Given the description of an element on the screen output the (x, y) to click on. 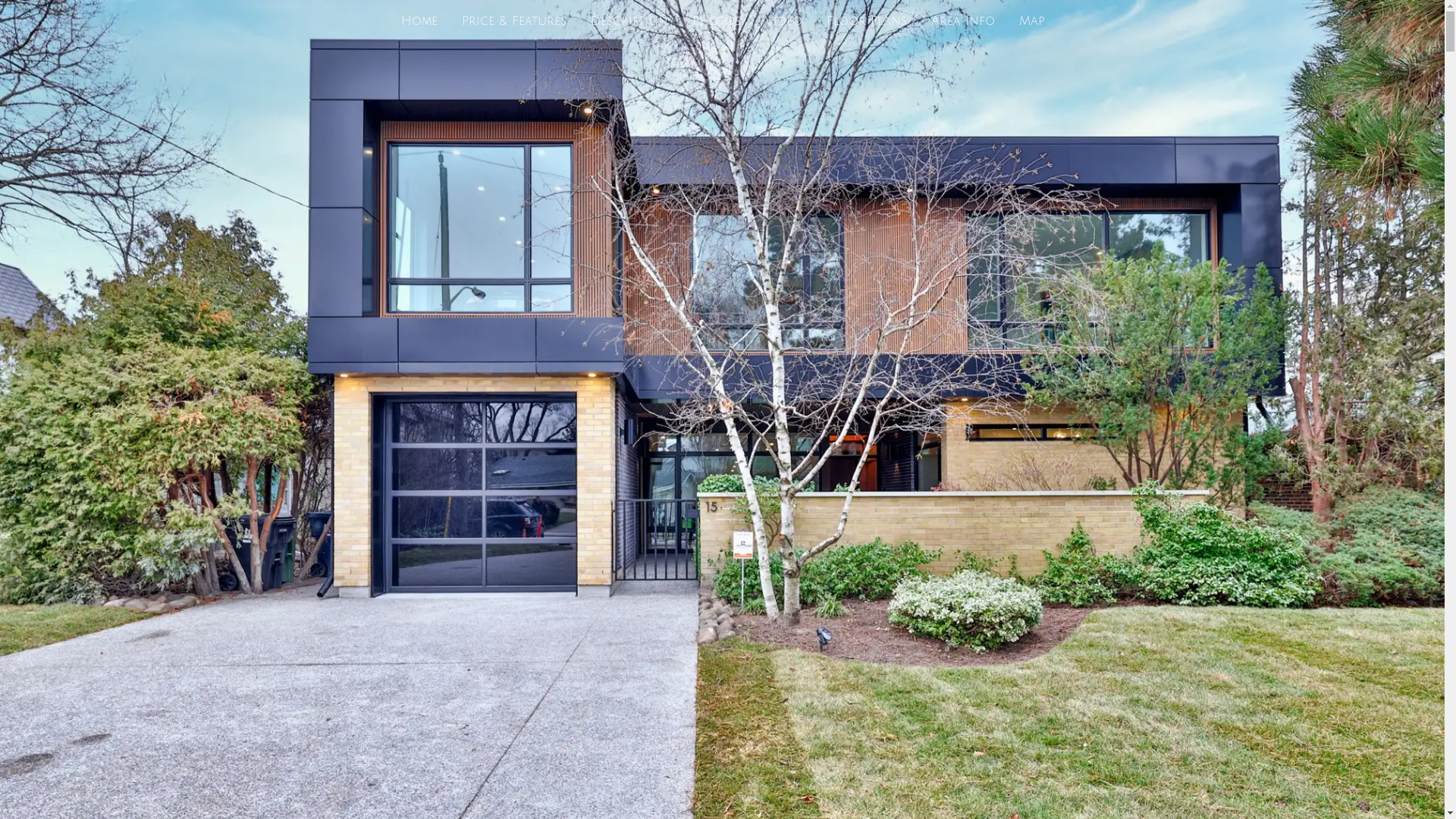
Area Info Element type: text (963, 21)
Floor Plans Element type: text (866, 21)
Photos Element type: text (715, 21)
Description Element type: text (628, 21)
Home Element type: text (418, 21)
Price & Features Element type: text (512, 21)
Map Element type: text (1031, 21)
Video Element type: text (782, 21)
